Given the description of an element on the screen output the (x, y) to click on. 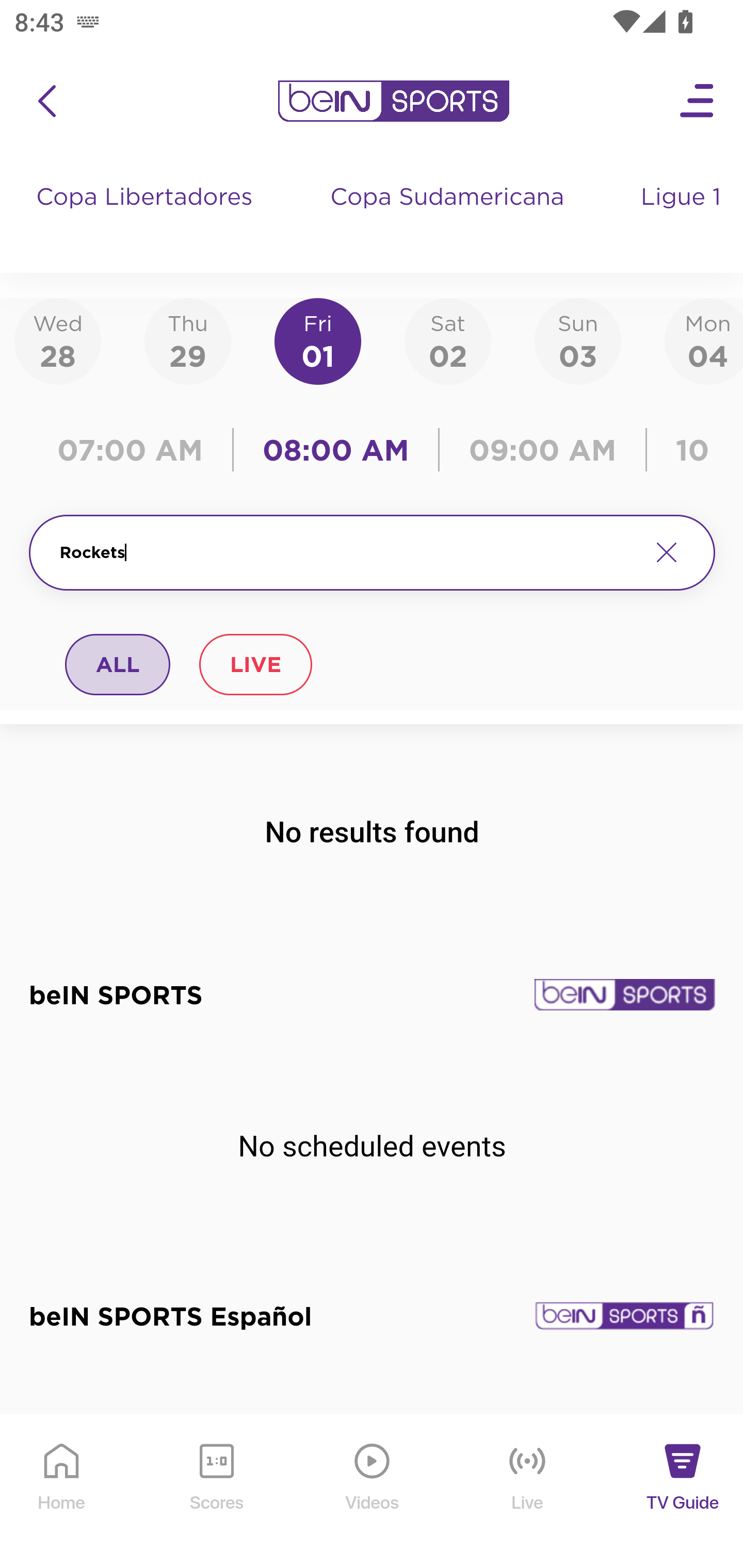
en-us?platform=mobile_android bein logo (392, 101)
icon back (46, 101)
Open Menu Icon (697, 101)
Copa Libertadores (146, 216)
Copa Sudamericana (448, 216)
Ligue 1 (682, 216)
Wed28 (58, 340)
Thu29 (187, 340)
Fri01 (318, 340)
Sat02 (447, 340)
Sun03 (578, 340)
Mon04 (703, 340)
07:00 AM (135, 449)
08:00 AM (336, 449)
09:00 AM (542, 449)
Rockets (346, 552)
ALL (118, 663)
LIVE (255, 663)
Home Home Icon Home (61, 1491)
Scores Scores Icon Scores (216, 1491)
Scores Scores Icon Scores (216, 1491)
Videos Videos Icon Videos (372, 1491)
TV Guide TV Guide Icon TV Guide (682, 1491)
